Given the description of an element on the screen output the (x, y) to click on. 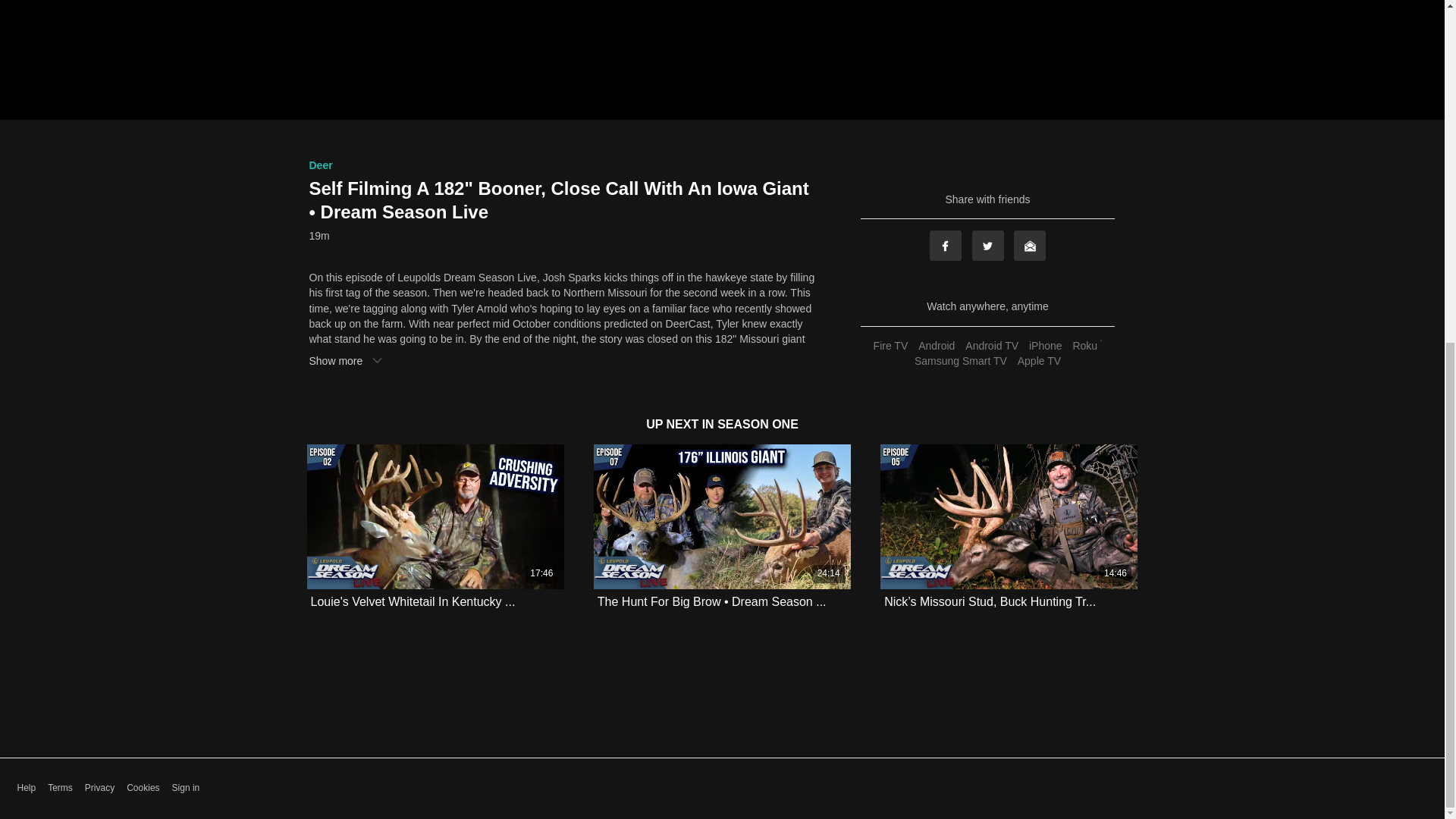
14:46 (1008, 516)
Apple TV (1038, 360)
Android (936, 345)
Email (1029, 245)
Terms (60, 788)
Deer (320, 164)
Facebook (945, 245)
Android TV (991, 345)
Samsung Smart TV (960, 360)
Privacy (99, 788)
